Given the description of an element on the screen output the (x, y) to click on. 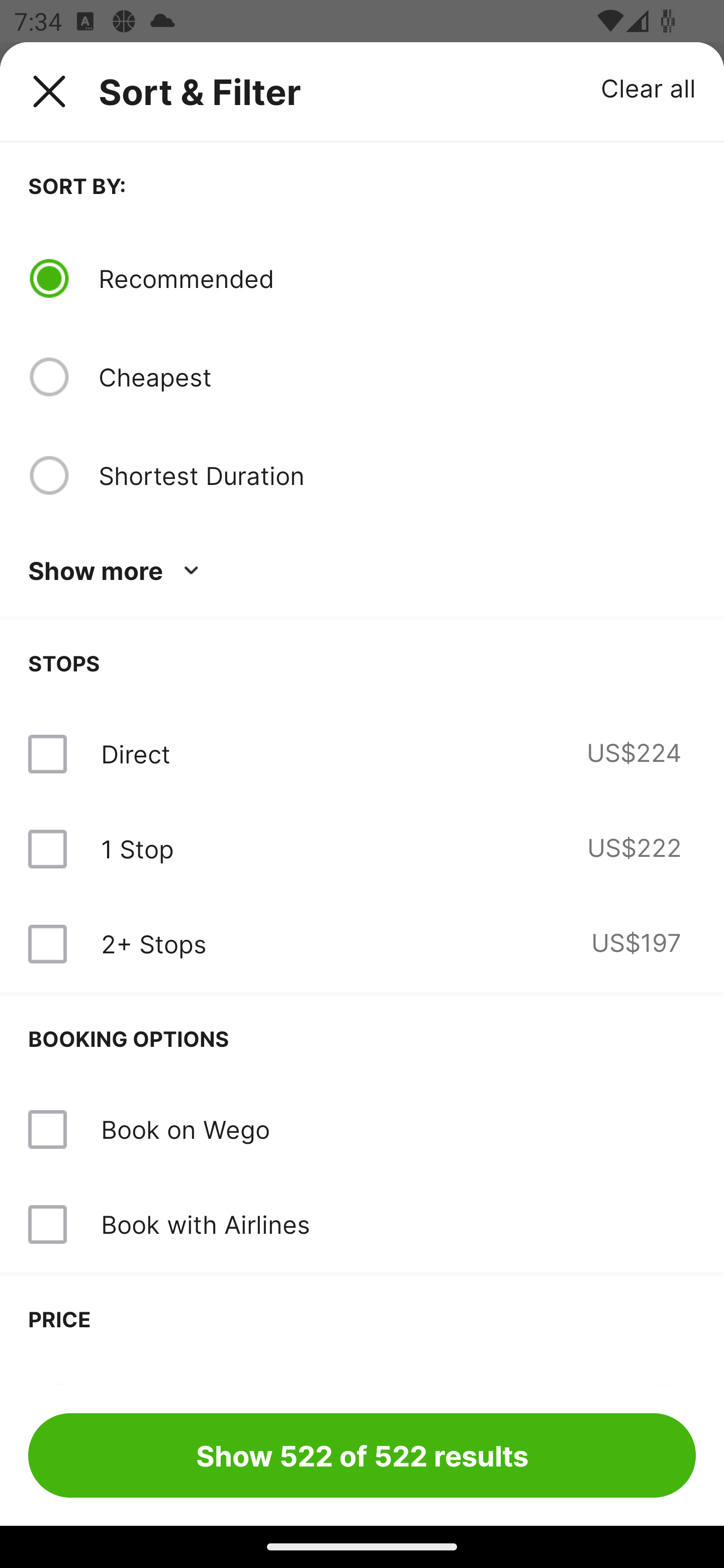
Clear all (648, 87)
Recommended  (396, 278)
Cheapest (396, 377)
Shortest Duration (396, 474)
Show more (116, 570)
Direct US$224 (362, 754)
Direct (135, 753)
1 Stop US$222 (362, 848)
1 Stop (136, 849)
2+ Stops US$197 (362, 943)
2+ Stops (153, 943)
Book on Wego (362, 1129)
Book on Wego (184, 1128)
Book with Airlines (362, 1224)
Book with Airlines (204, 1224)
Show 522 of 522 results (361, 1454)
